Given the description of an element on the screen output the (x, y) to click on. 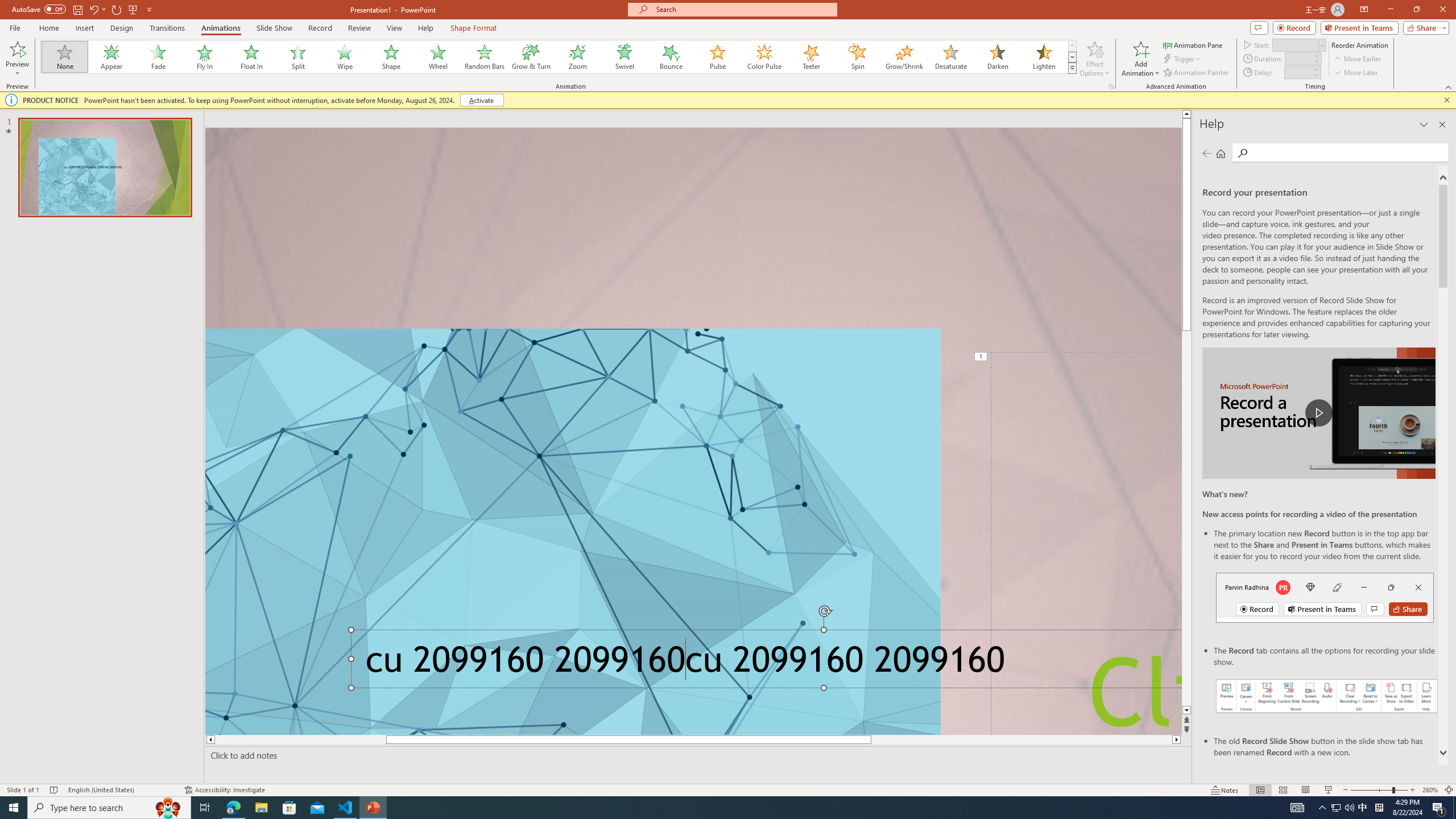
Spin (857, 56)
Previous page (1206, 152)
Desaturate (950, 56)
play Record a Presentation (1318, 412)
Pulse (717, 56)
Slide Notes (696, 755)
TextBox 61 (762, 663)
